Given the description of an element on the screen output the (x, y) to click on. 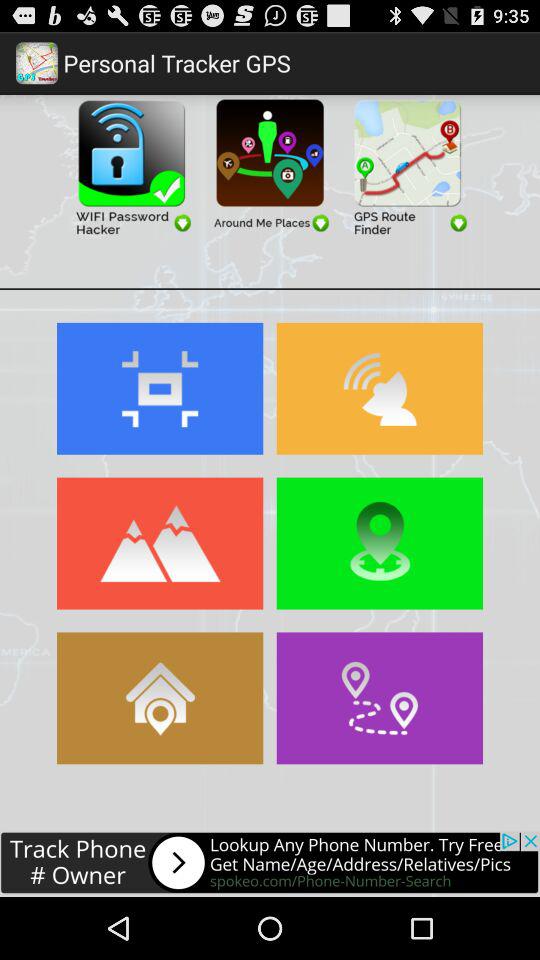
click on advertisement (131, 165)
